Given the description of an element on the screen output the (x, y) to click on. 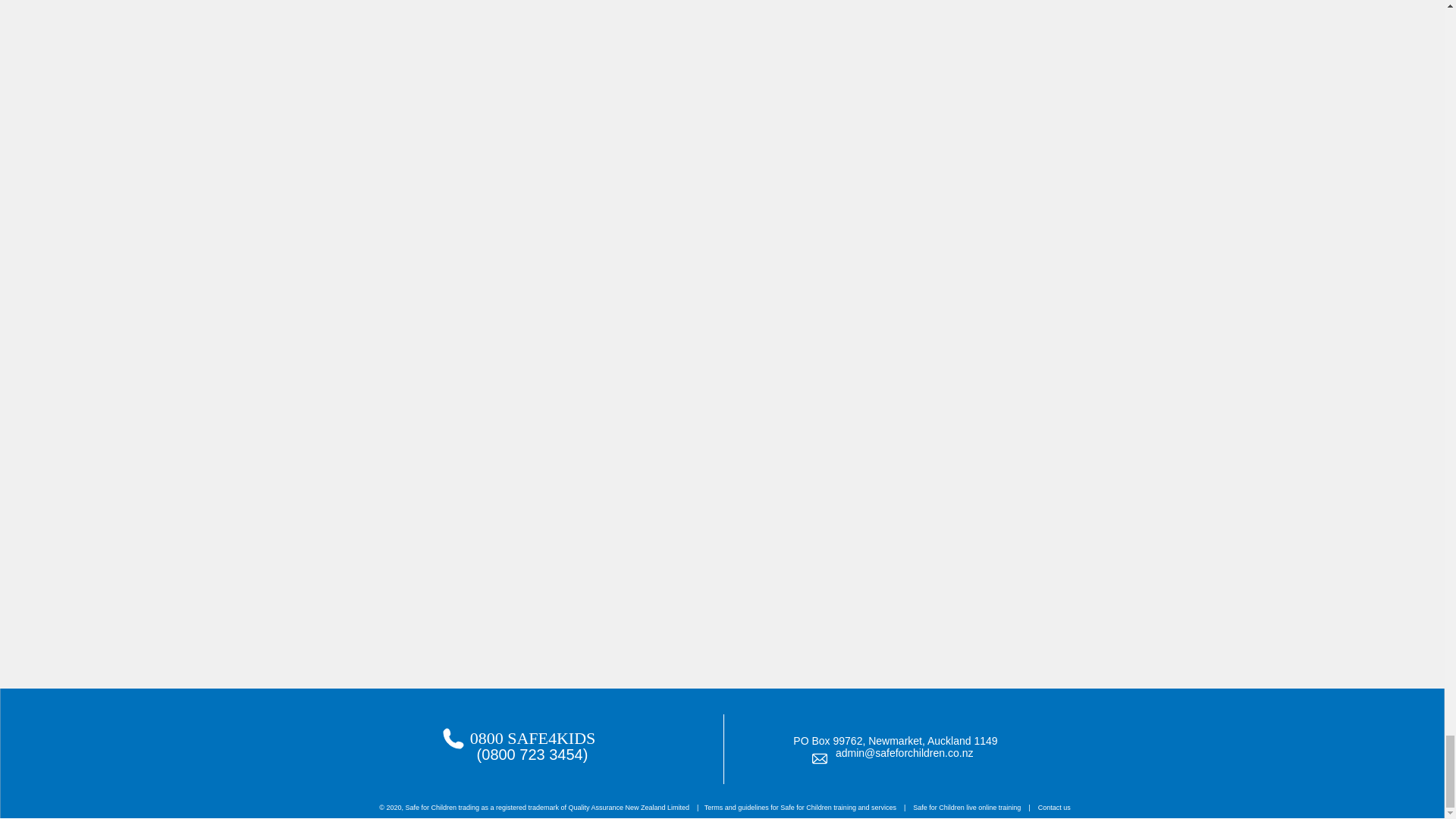
0800 SAFE4KIDS (532, 737)
Contact us (1054, 807)
Safe for Children live online training (966, 807)
